Given the description of an element on the screen output the (x, y) to click on. 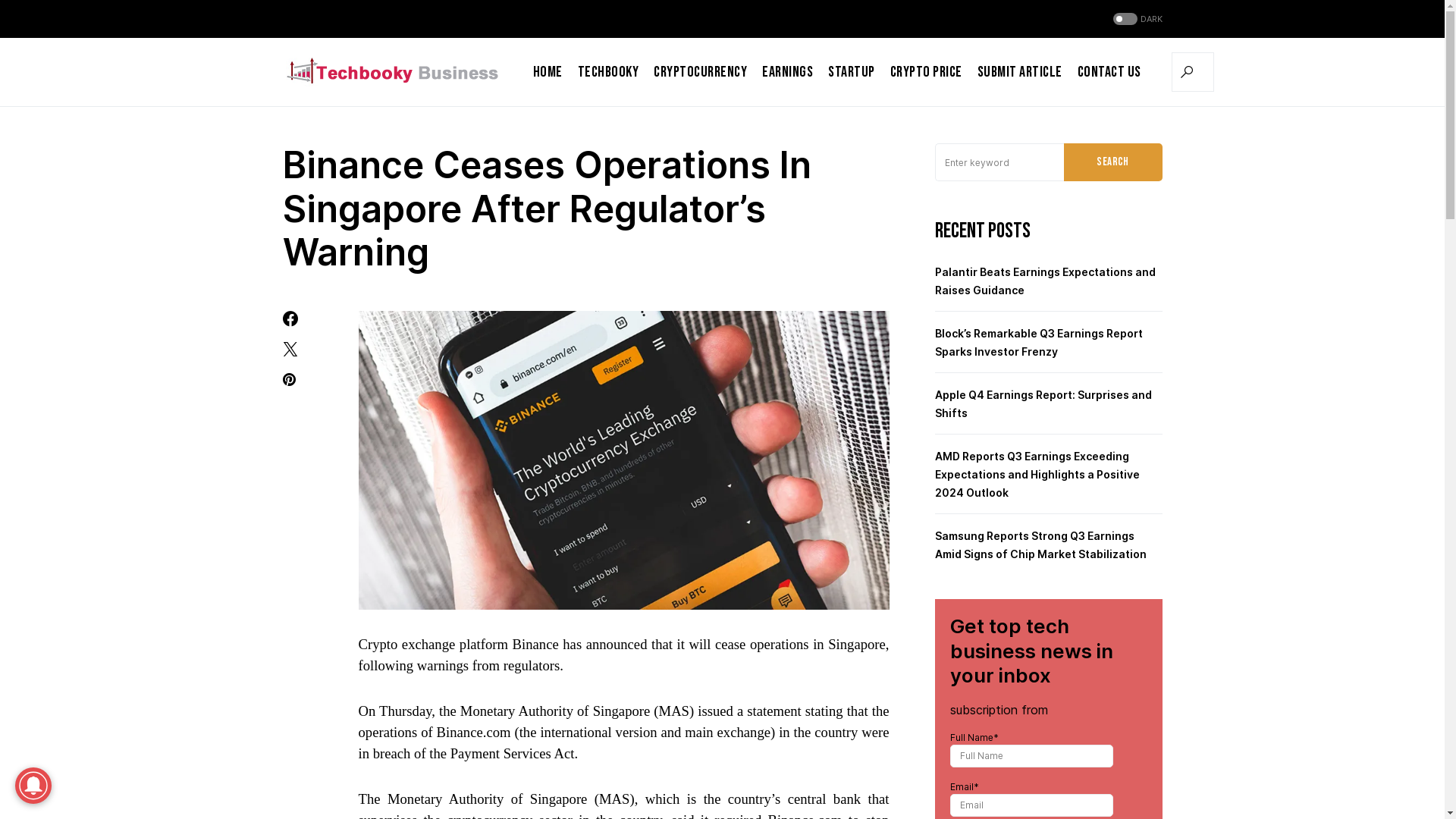
Palantir Beats Earnings Expectations and Raises Guidance Element type: text (1044, 280)
TechBooky Element type: text (608, 71)
Crypto Price Element type: text (926, 71)
Contact Us Element type: text (1108, 71)
Home Element type: text (546, 71)
Submit Article Element type: text (1018, 71)
Cryptocurrency Element type: text (699, 71)
Search Element type: text (1112, 162)
Earnings Element type: text (787, 71)
Startup Element type: text (851, 71)
Apple Q4 Earnings Report: Surprises and Shifts Element type: text (1042, 403)
Binance Element type: text (535, 644)
